Given the description of an element on the screen output the (x, y) to click on. 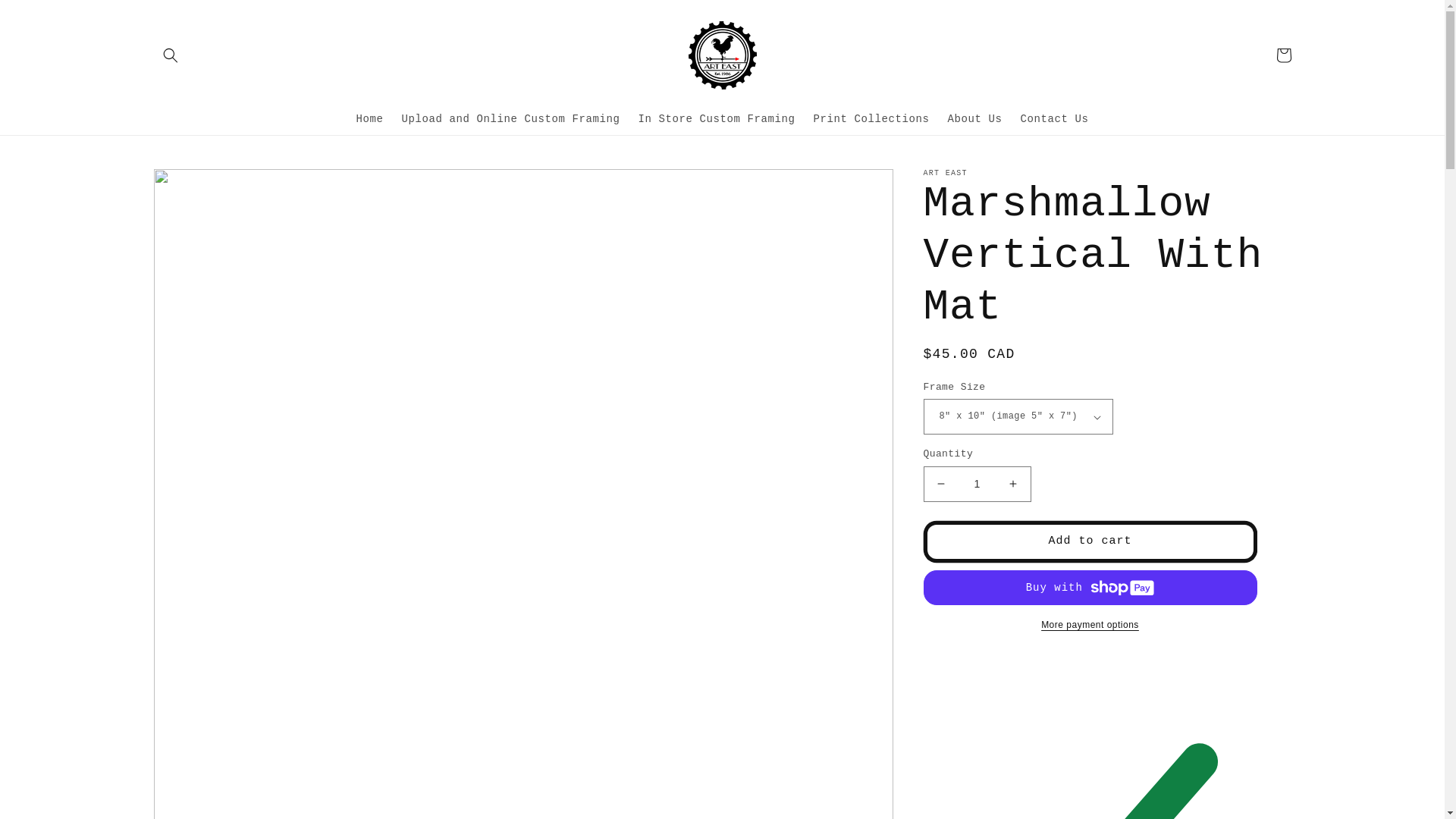
Home Element type: text (369, 118)
Skip to product information Element type: text (202, 189)
Increase quantity for Marshmallow Vertical With Mat Element type: text (1013, 484)
Upload and Online Custom Framing Element type: text (510, 118)
Decrease quantity for Marshmallow Vertical With Mat Element type: text (940, 484)
About Us Element type: text (974, 118)
Contact Us Element type: text (1054, 118)
Add to cart Element type: text (1090, 541)
Cart Element type: text (1282, 54)
In Store Custom Framing Element type: text (715, 118)
Print Collections Element type: text (871, 118)
More payment options Element type: text (1090, 624)
